Given the description of an element on the screen output the (x, y) to click on. 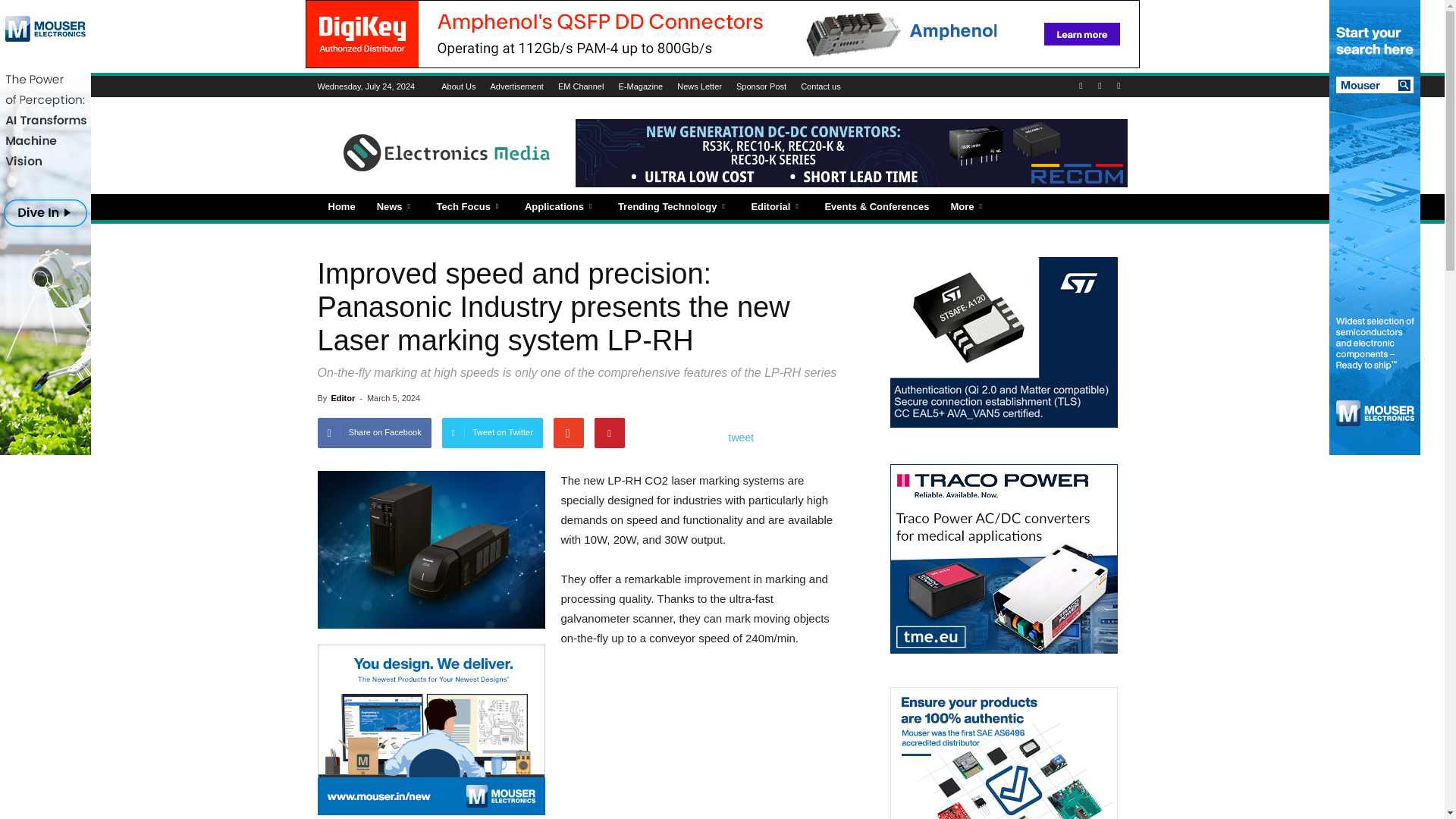
advertisement (430, 729)
PR Panasonic Industry Europe LP-RH series 1 (430, 549)
